Given the description of an element on the screen output the (x, y) to click on. 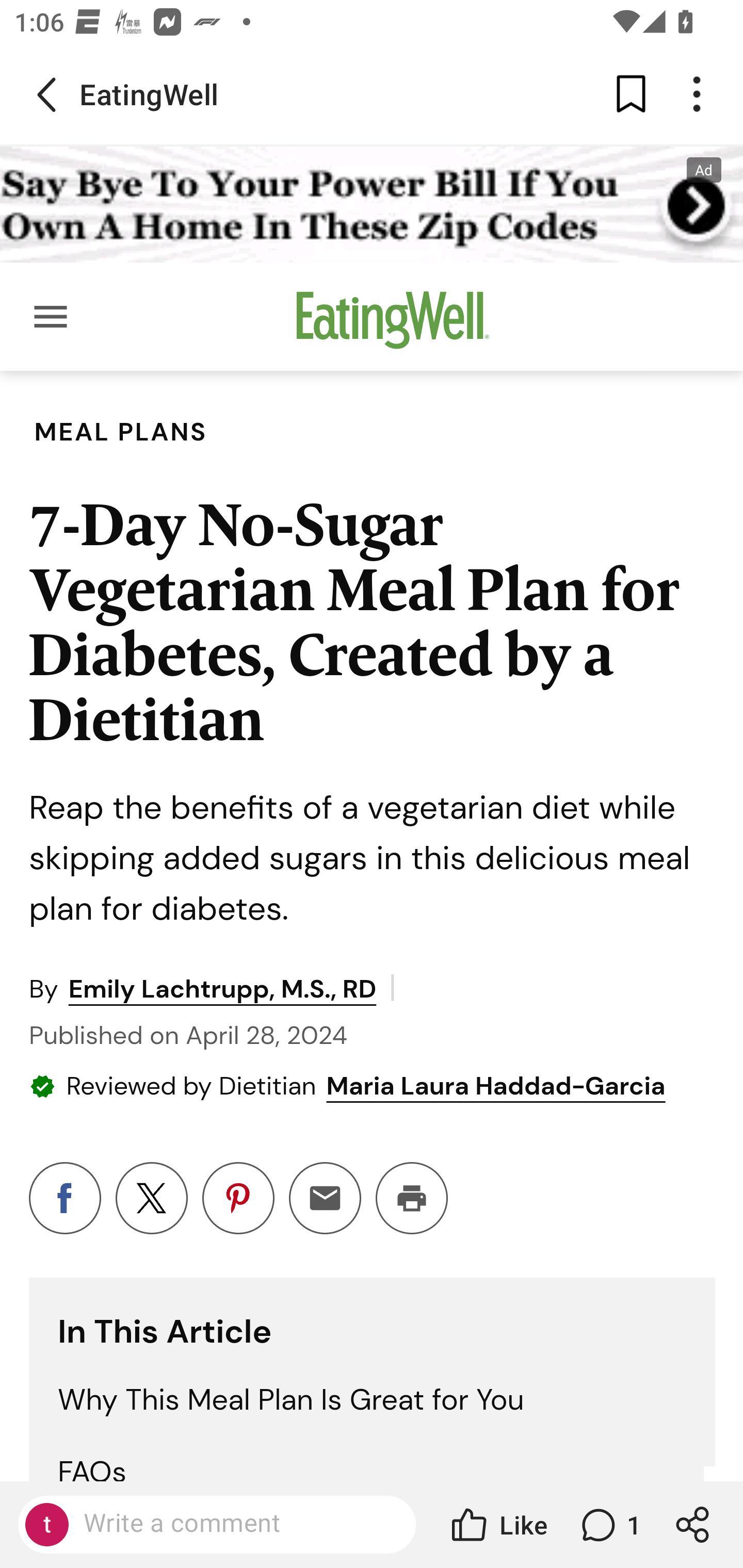
Like (497, 1524)
1 (608, 1524)
Write a comment (234, 1523)
